Given the description of an element on the screen output the (x, y) to click on. 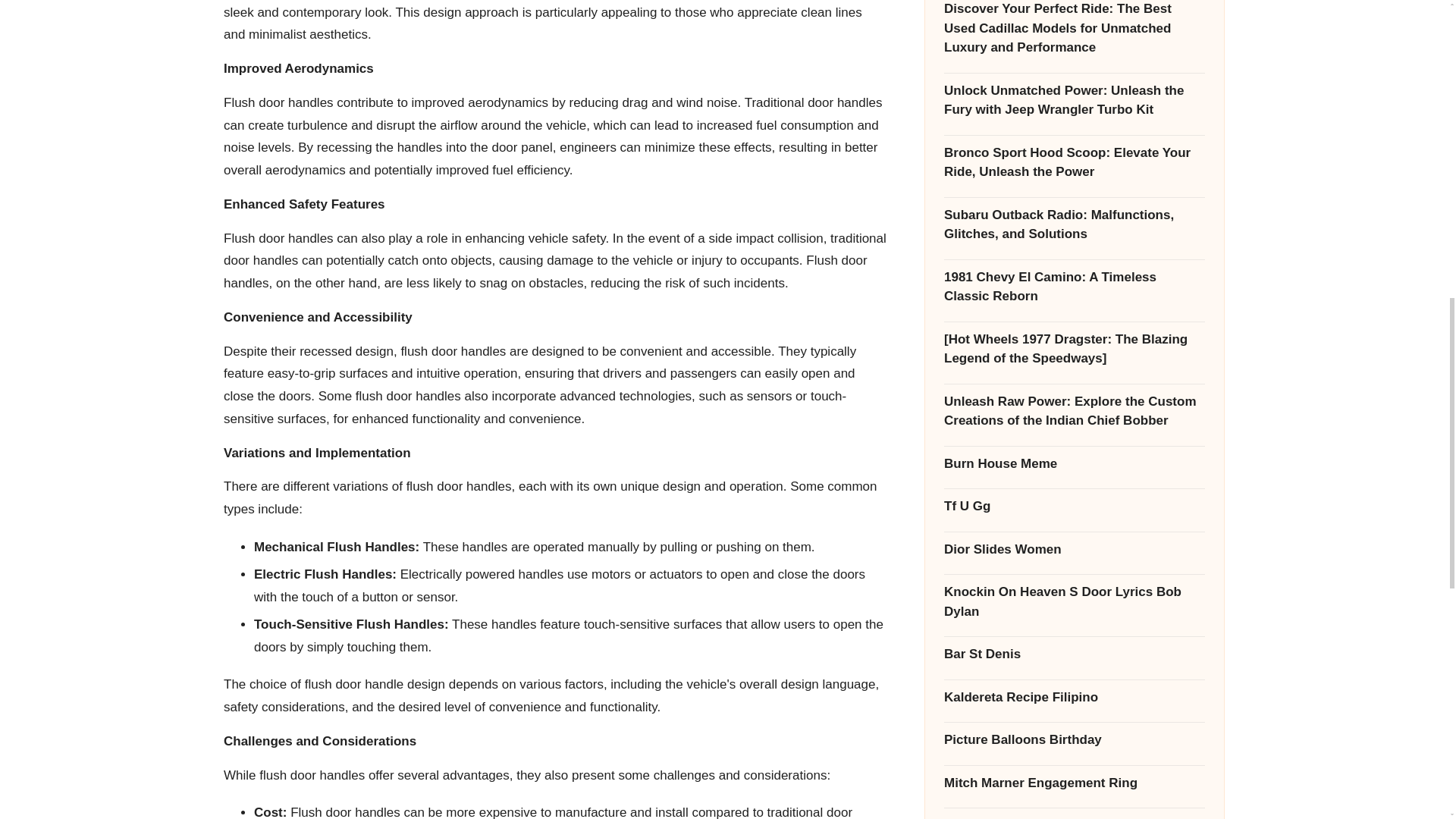
Red Riding Hood Costume (1074, 528)
Kaldereta Recipe Filipino (1074, 270)
Victoria And Alfred Waterfront Cape Town (1074, 442)
Guitar String Ring (1074, 613)
Detroit Red Wings Hats (1074, 656)
Tf U Gg (1074, 80)
Knockin On Heaven S Door Lyrics Bob Dylan (1074, 175)
Mitch Marner Engagement Ring (1074, 356)
Numbers 1 50 Worksheets Pdf (1074, 570)
Bar St Denis (1074, 228)
